Given the description of an element on the screen output the (x, y) to click on. 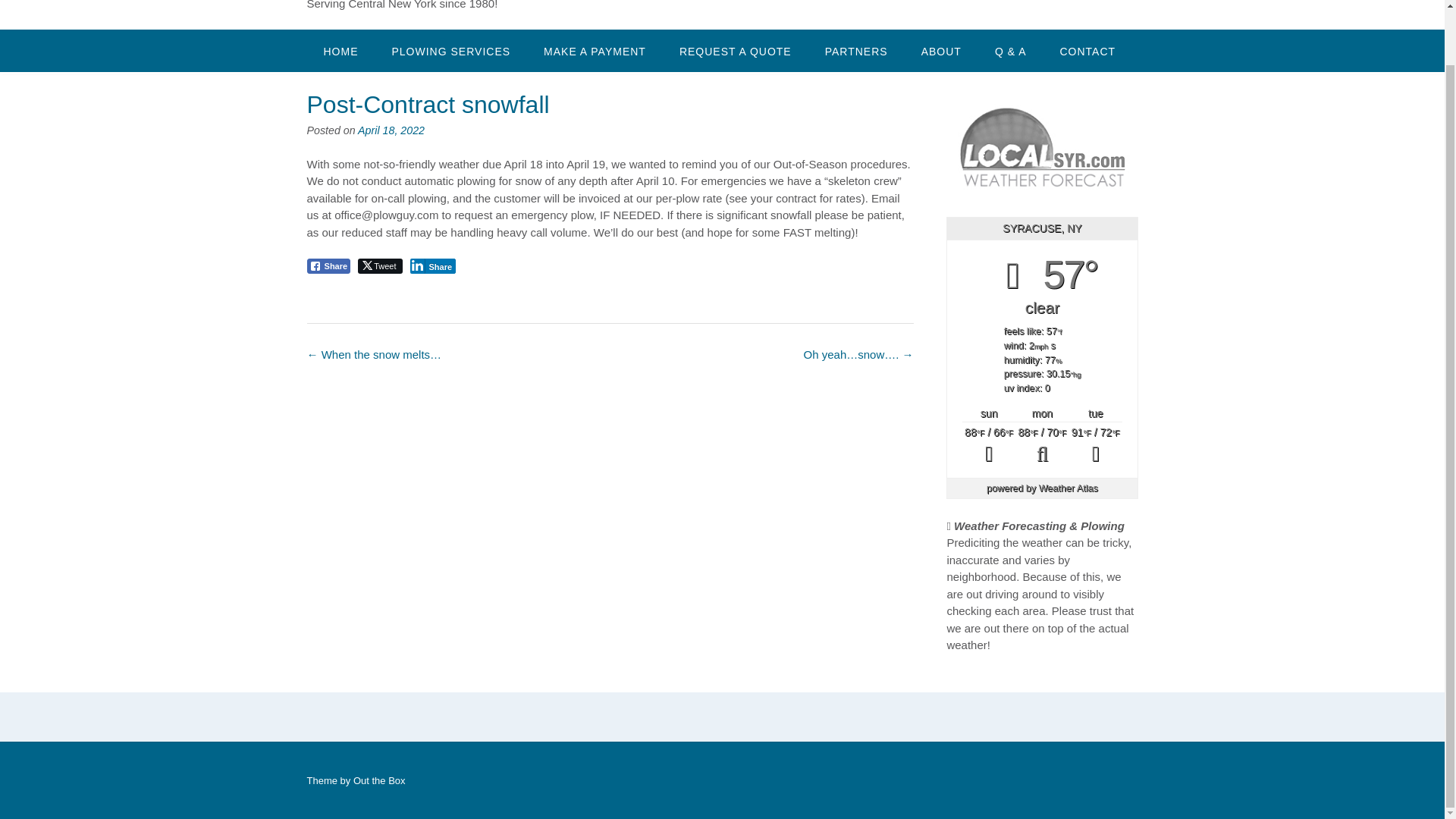
Share (432, 265)
Tweet (379, 265)
MAKE A PAYMENT (594, 50)
Partly Cloudy (1041, 446)
Sunny (988, 446)
PLOWING SERVICES (450, 50)
REQUEST A QUOTE (735, 50)
PARTNERS (856, 50)
PM Thunderstorms (1095, 446)
HOME (339, 50)
Out the Box (379, 780)
Share (327, 265)
April 18, 2022 (391, 130)
ABOUT (941, 50)
CONTACT (1087, 50)
